Given the description of an element on the screen output the (x, y) to click on. 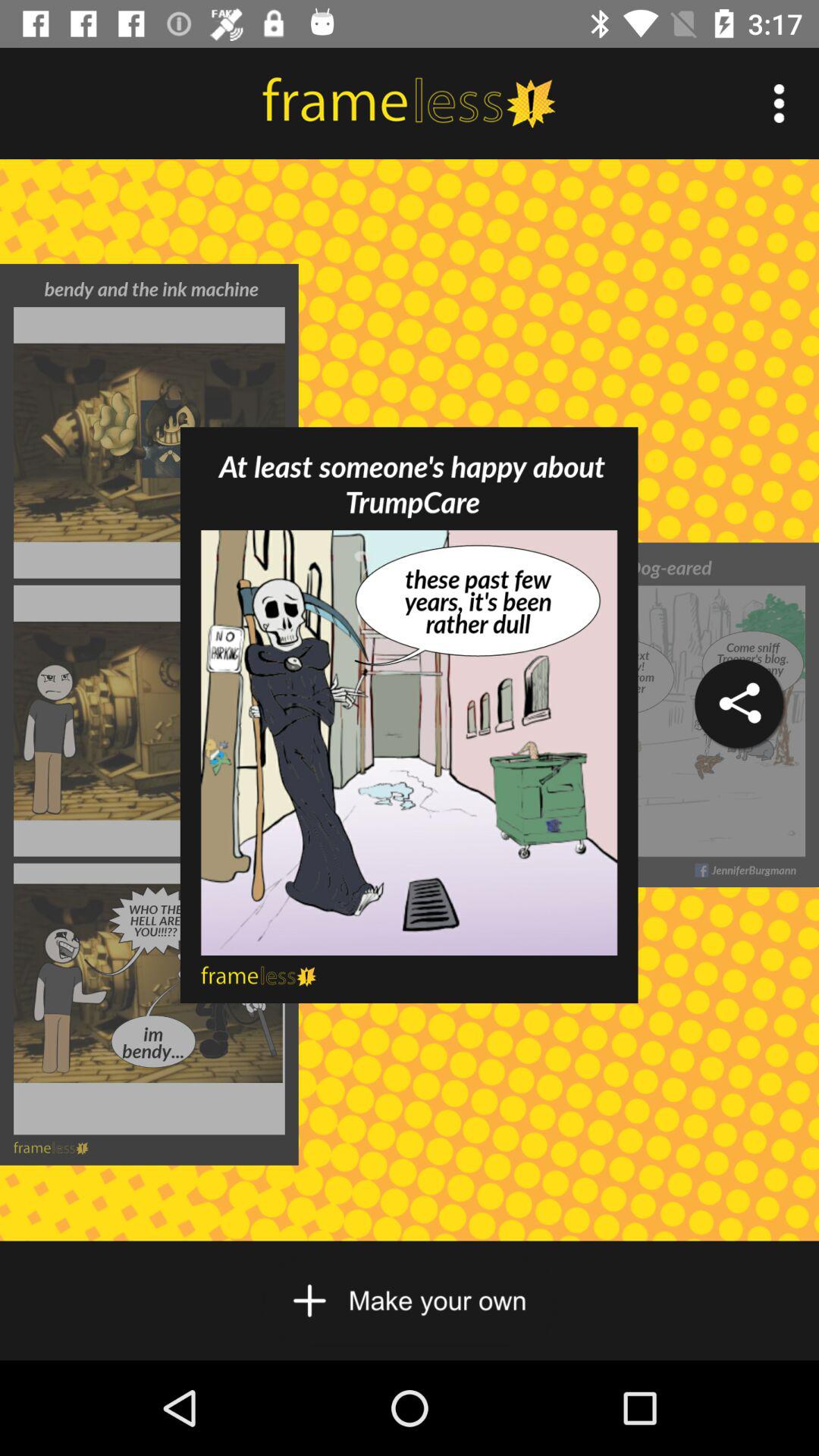
share (738, 703)
